Given the description of an element on the screen output the (x, y) to click on. 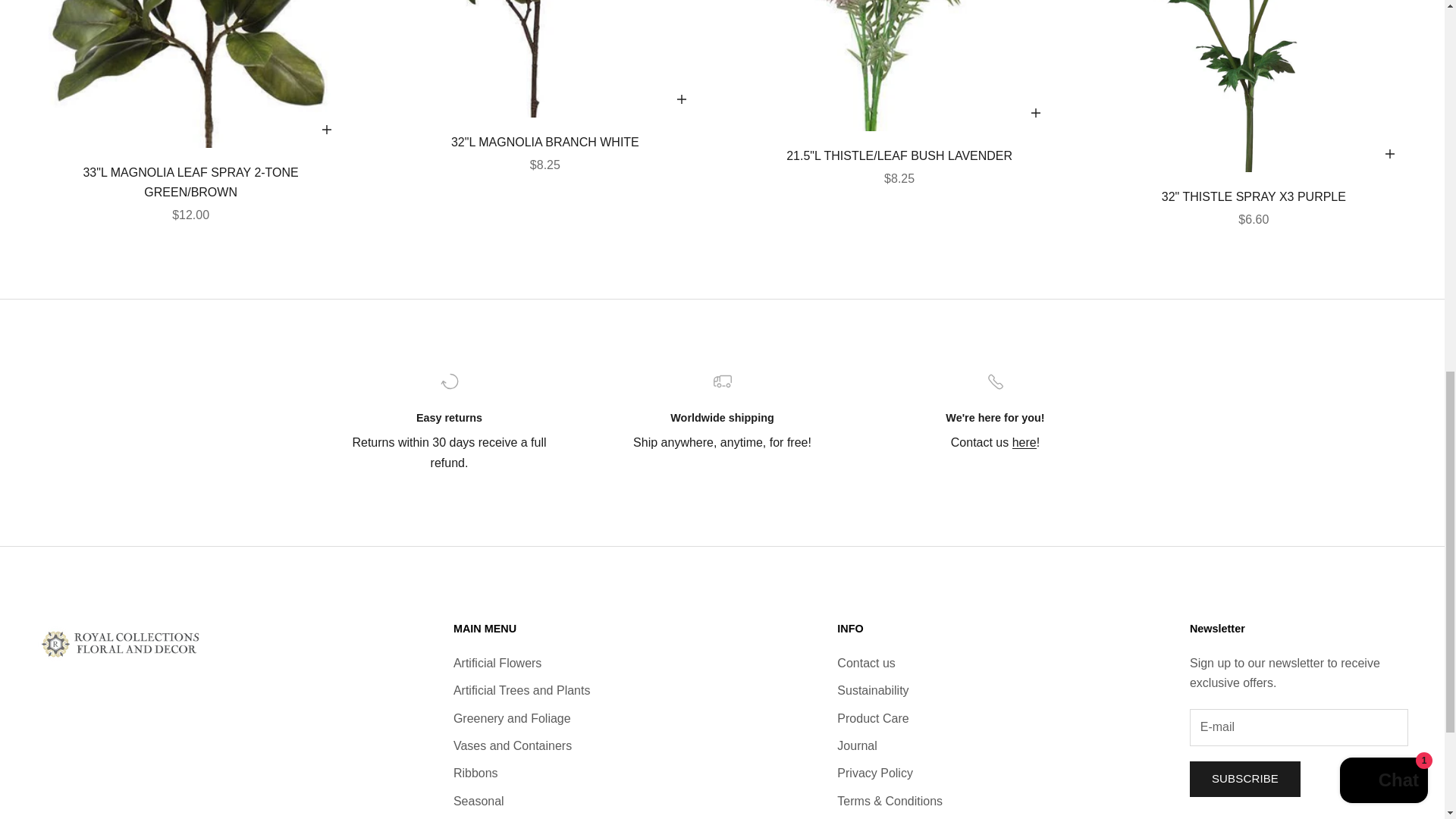
Contact (1023, 441)
